Given the description of an element on the screen output the (x, y) to click on. 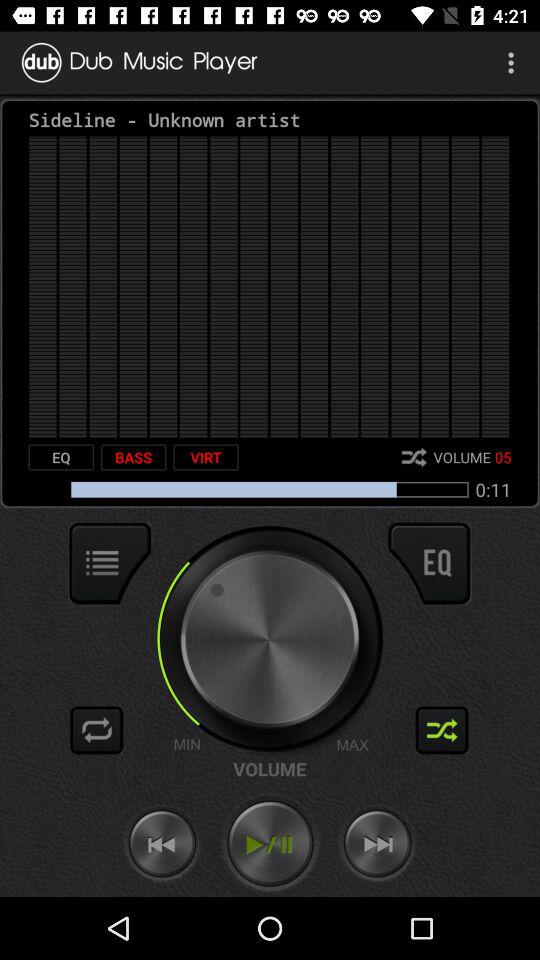
select the icon to the left of the  virt (133, 457)
